Given the description of an element on the screen output the (x, y) to click on. 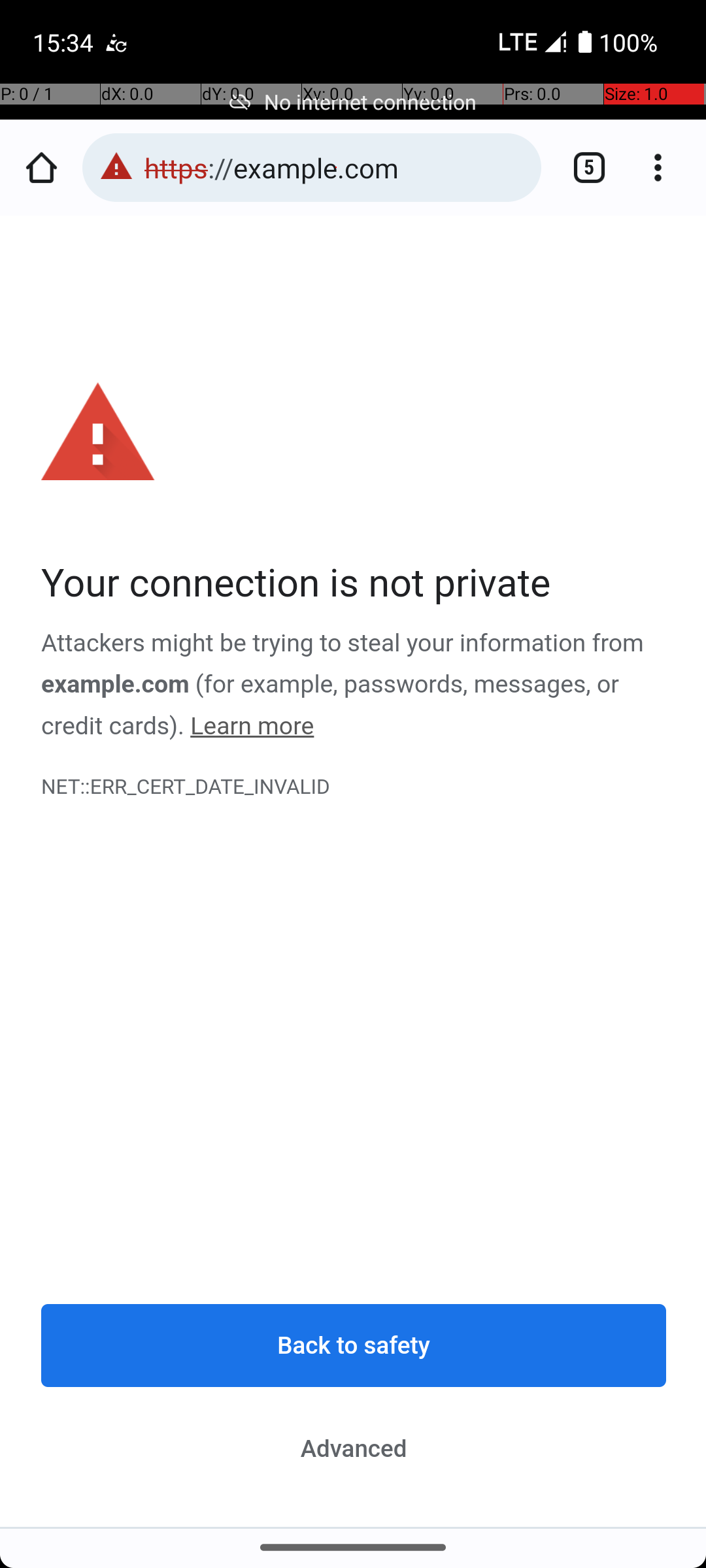
https://example.com Element type: android.widget.EditText (335, 167)
example.com Element type: android.widget.TextView (115, 684)
